Given the description of an element on the screen output the (x, y) to click on. 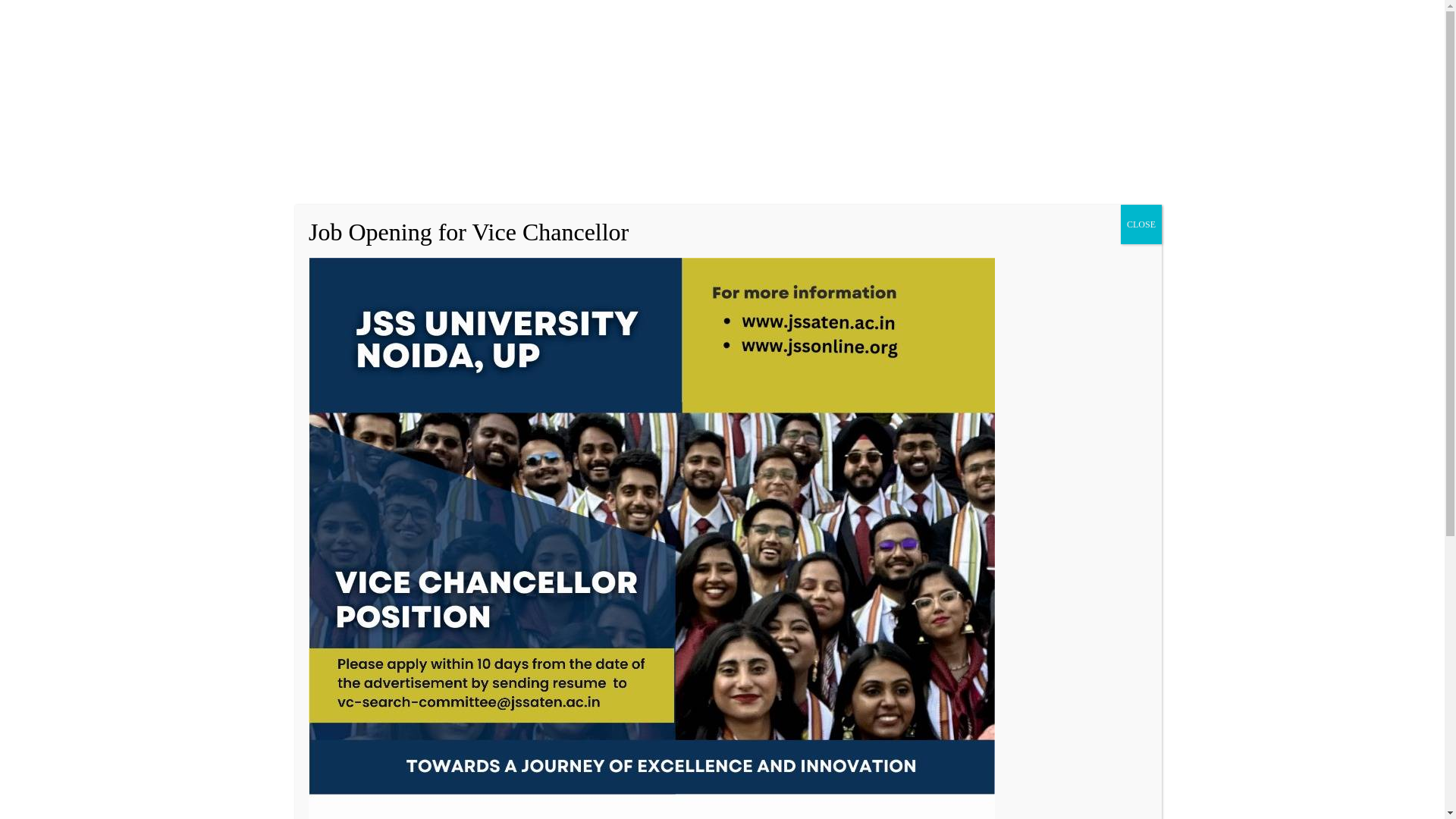
Suttur-School (381, 53)
